Given the description of an element on the screen output the (x, y) to click on. 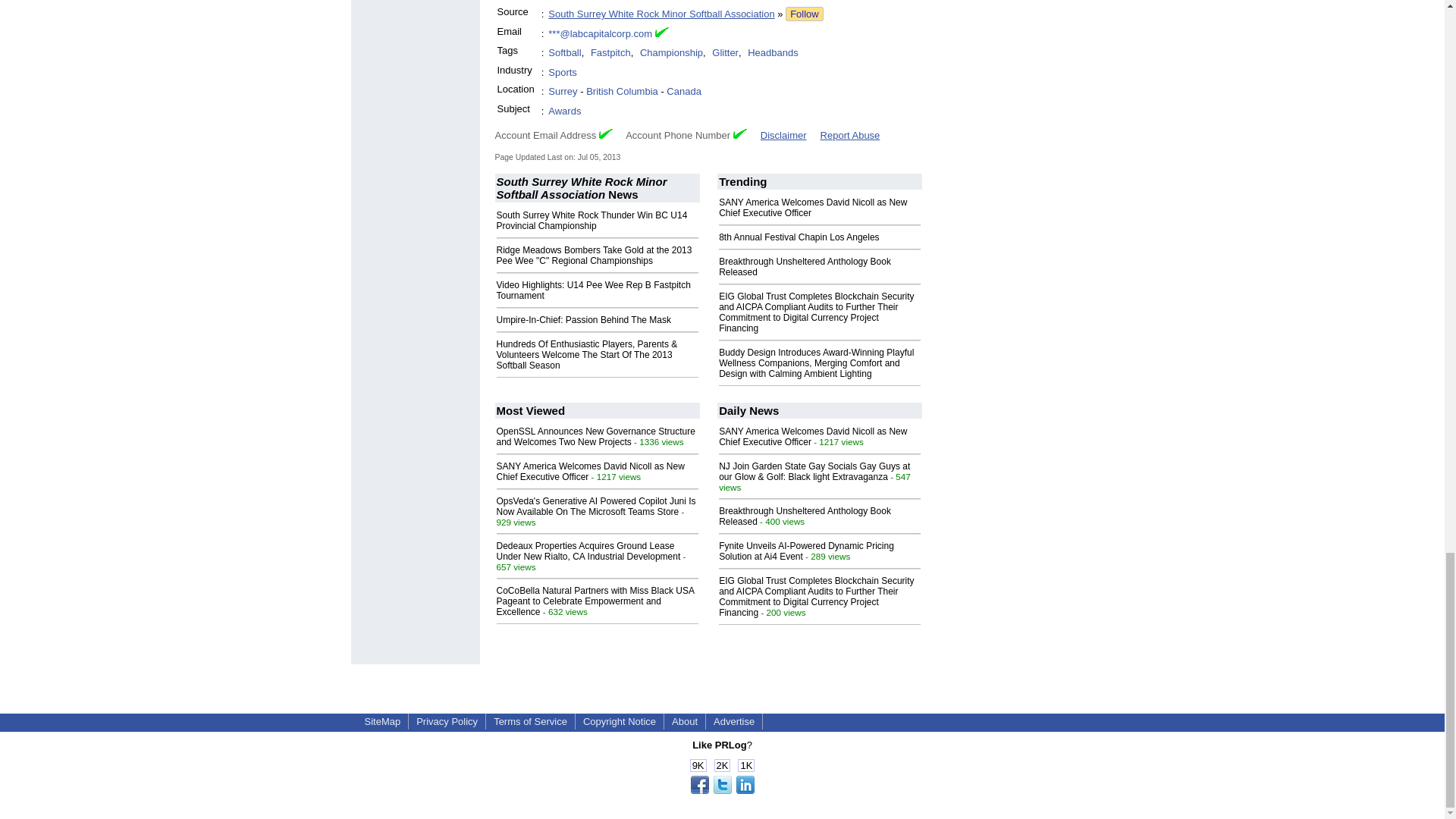
Email Verified (661, 33)
Share this page! (722, 790)
Verified (739, 133)
Verified (605, 133)
